Given the description of an element on the screen output the (x, y) to click on. 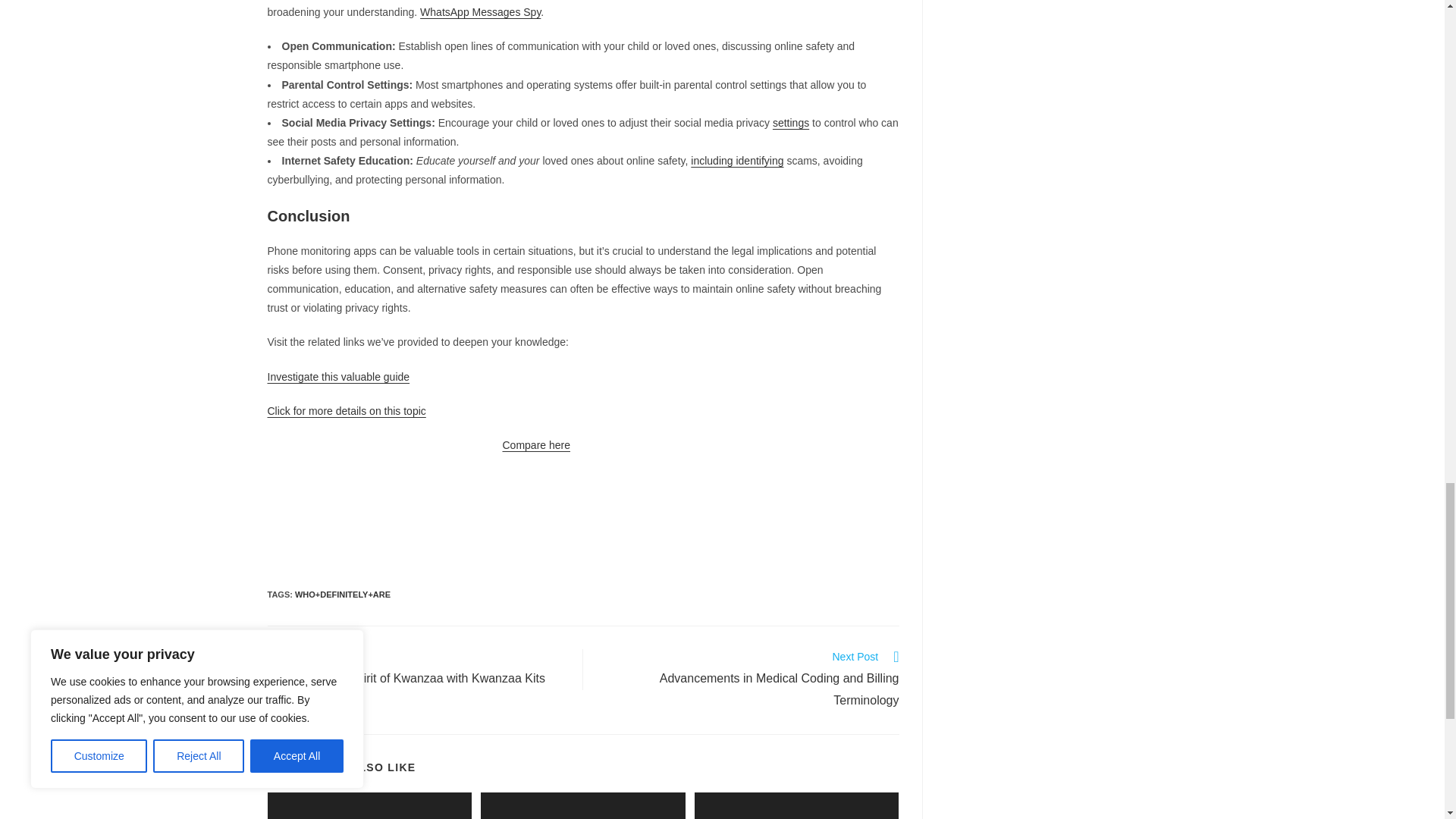
Investigate this valuable guide (337, 377)
Click for more details on this topic (345, 410)
including identifying (736, 160)
settings (791, 122)
Compare here (536, 444)
WhatsApp Messages Spy (480, 11)
